Given the description of an element on the screen output the (x, y) to click on. 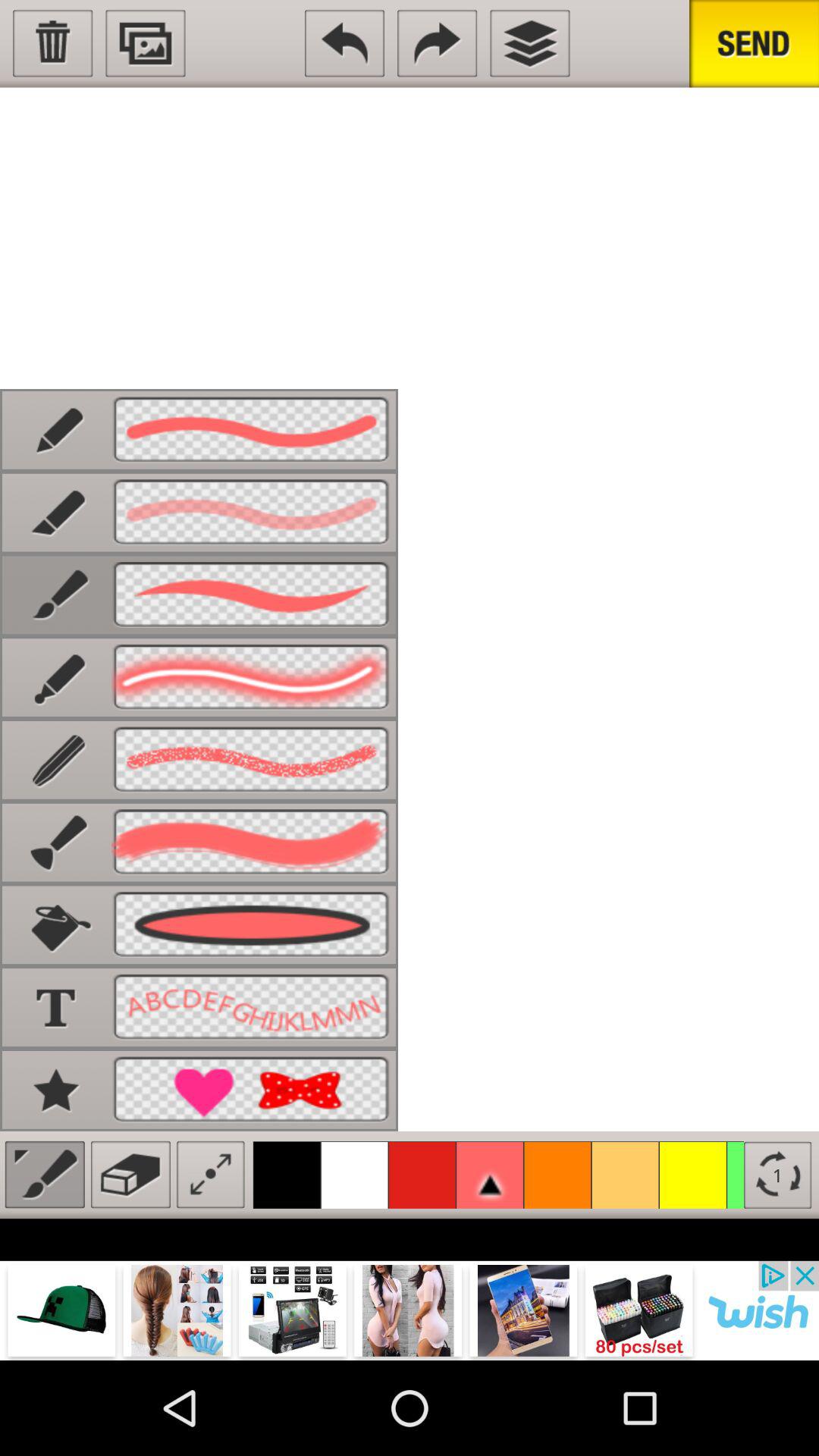
delete painting (52, 43)
